Given the description of an element on the screen output the (x, y) to click on. 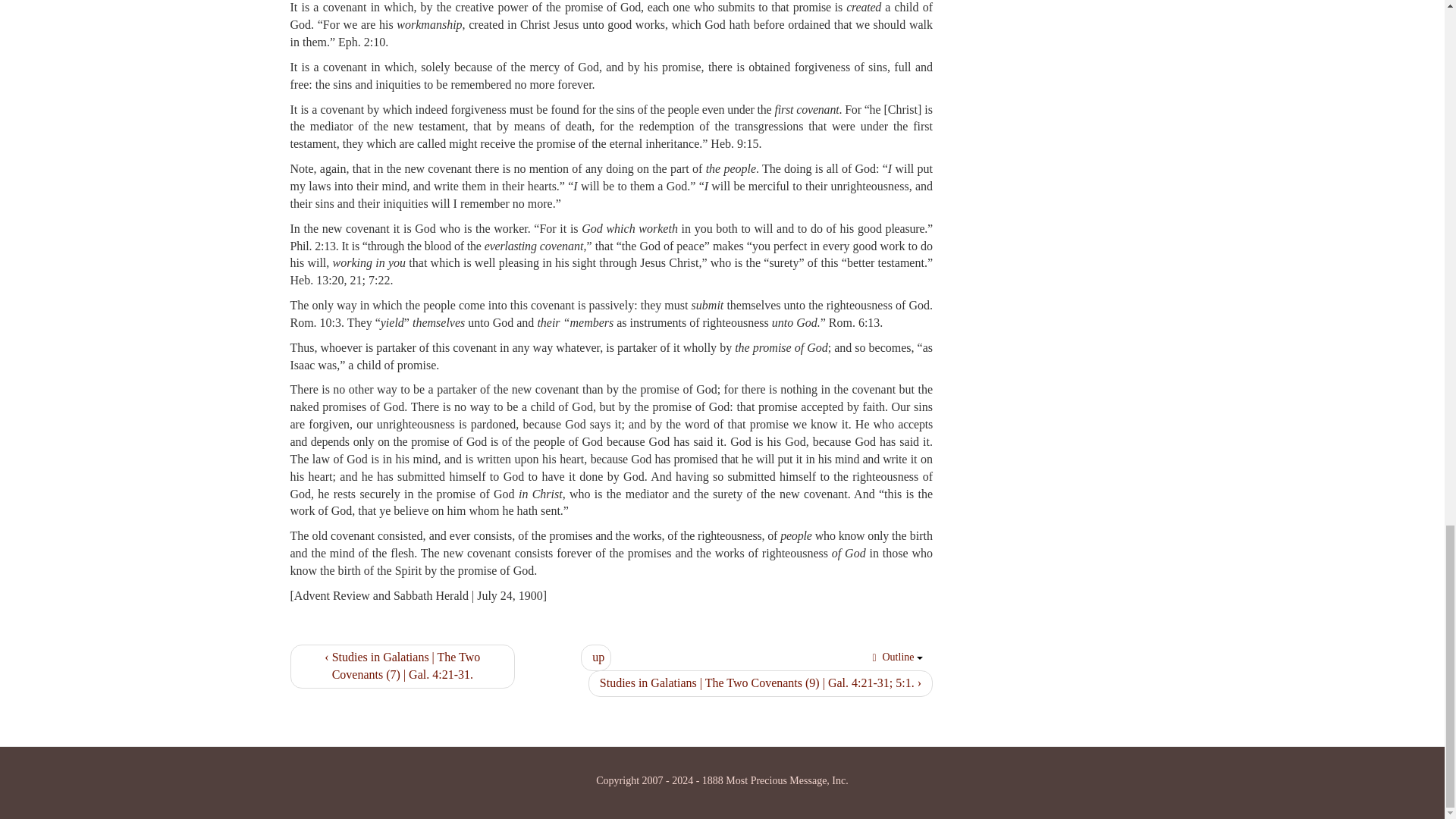
Go to parent page (595, 657)
Go to previous page (402, 666)
Outline (896, 657)
Go to next page (760, 683)
